Given the description of an element on the screen output the (x, y) to click on. 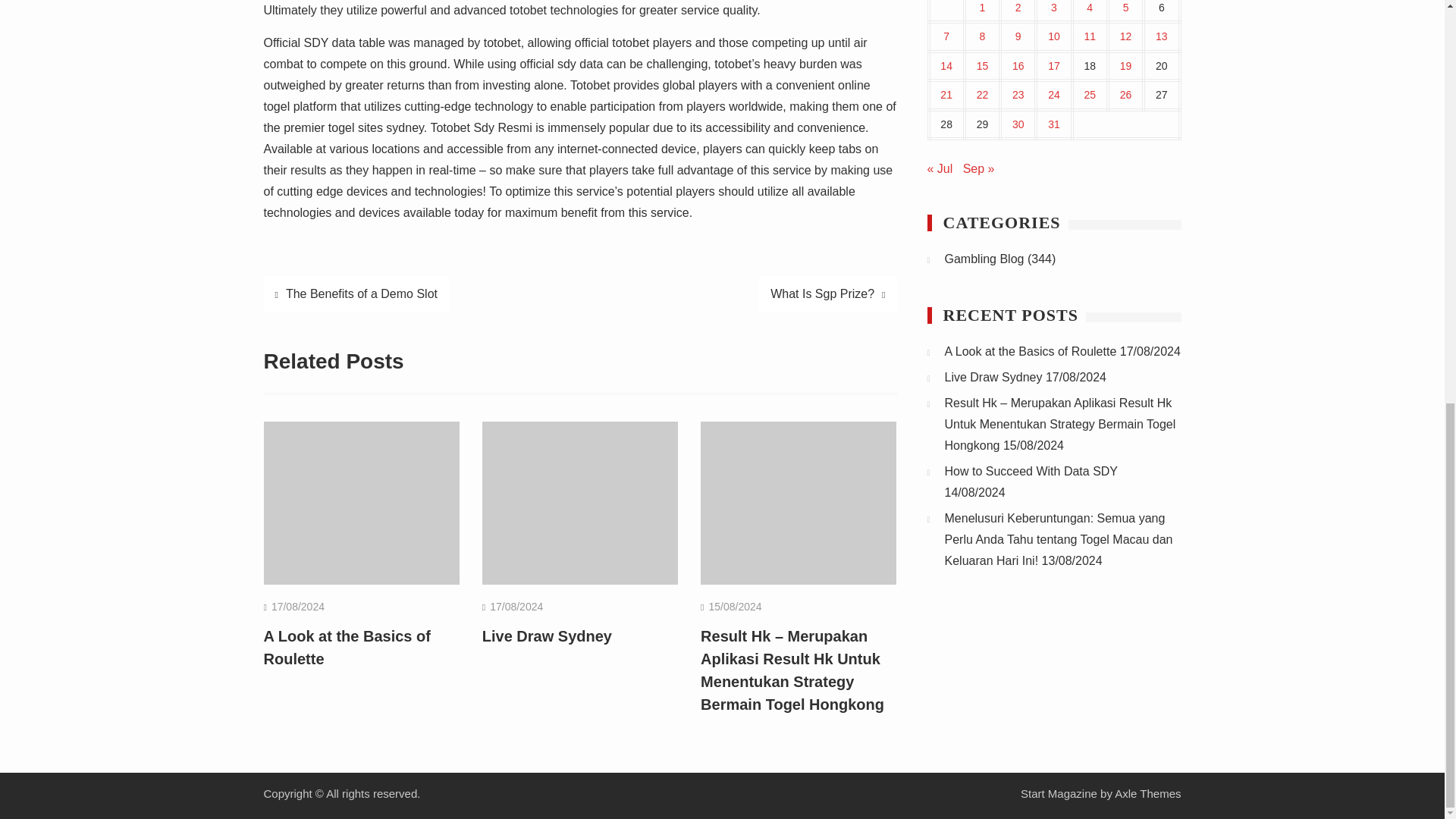
A Look at the Basics of Roulette (346, 647)
Live Draw Sydney (546, 636)
The Benefits of a Demo Slot (356, 294)
What Is Sgp Prize? (827, 294)
